Given the description of an element on the screen output the (x, y) to click on. 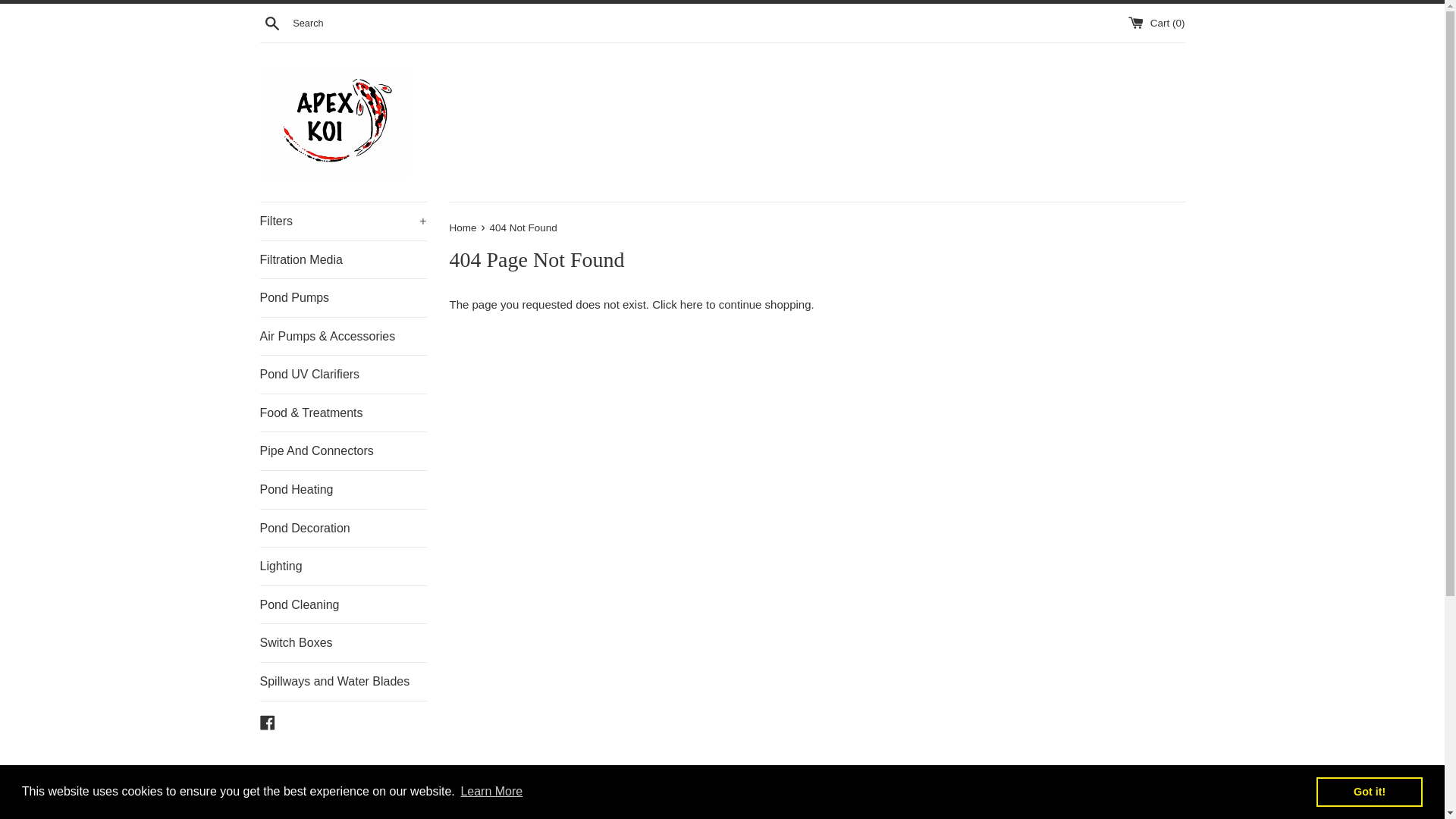
Pipe And Connectors (342, 451)
Switch Boxes (342, 642)
Filtration Media (342, 259)
Pond Decoration (342, 528)
Home (463, 227)
Pond Cleaning (342, 605)
Pond Pumps (342, 297)
Pond Heating (342, 489)
Facebook (267, 721)
Learn More (491, 791)
